Given the description of an element on the screen output the (x, y) to click on. 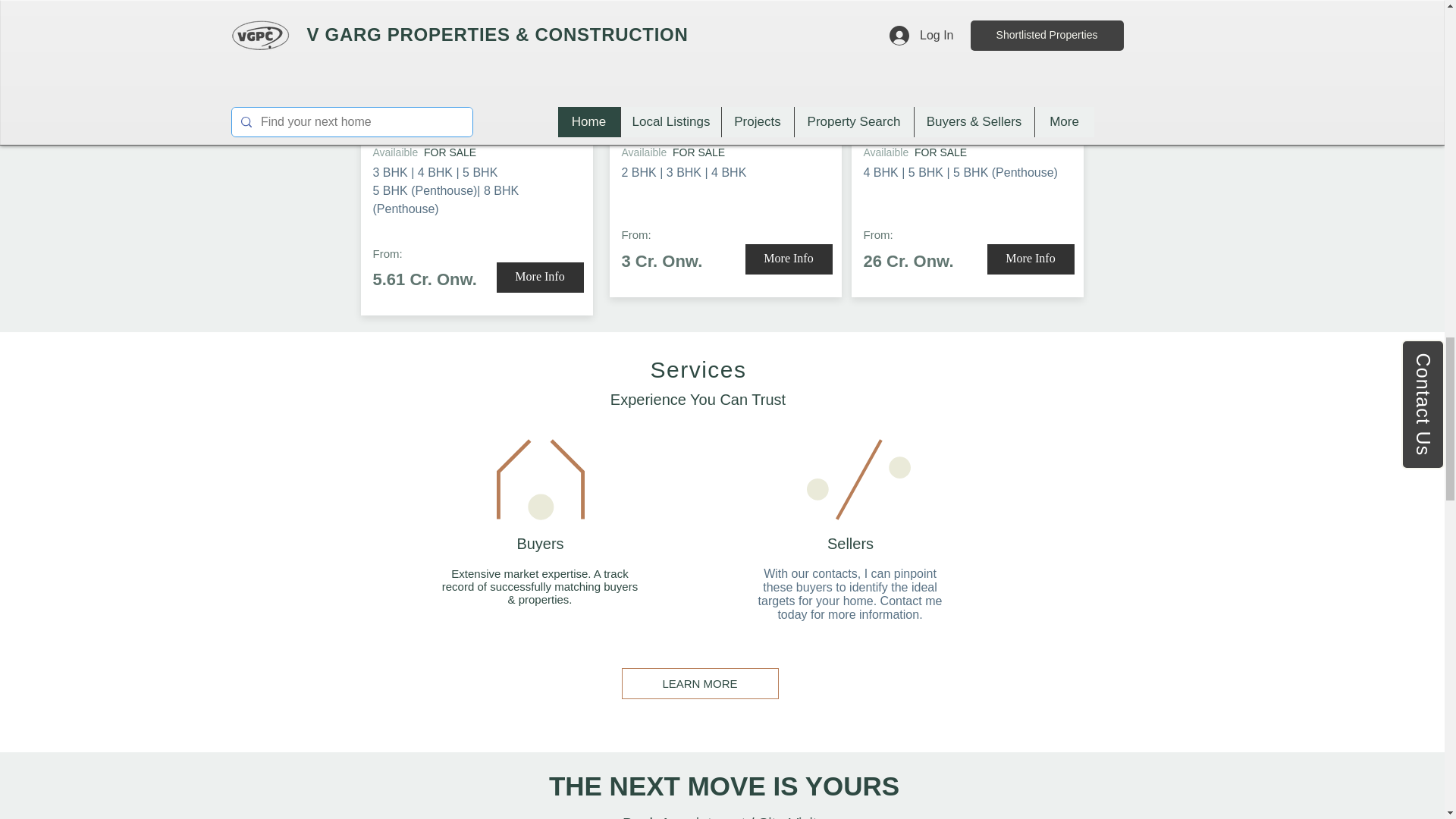
More Info (539, 277)
LEARN MORE (699, 682)
More Info (787, 259)
More Info (1030, 259)
